Given the description of an element on the screen output the (x, y) to click on. 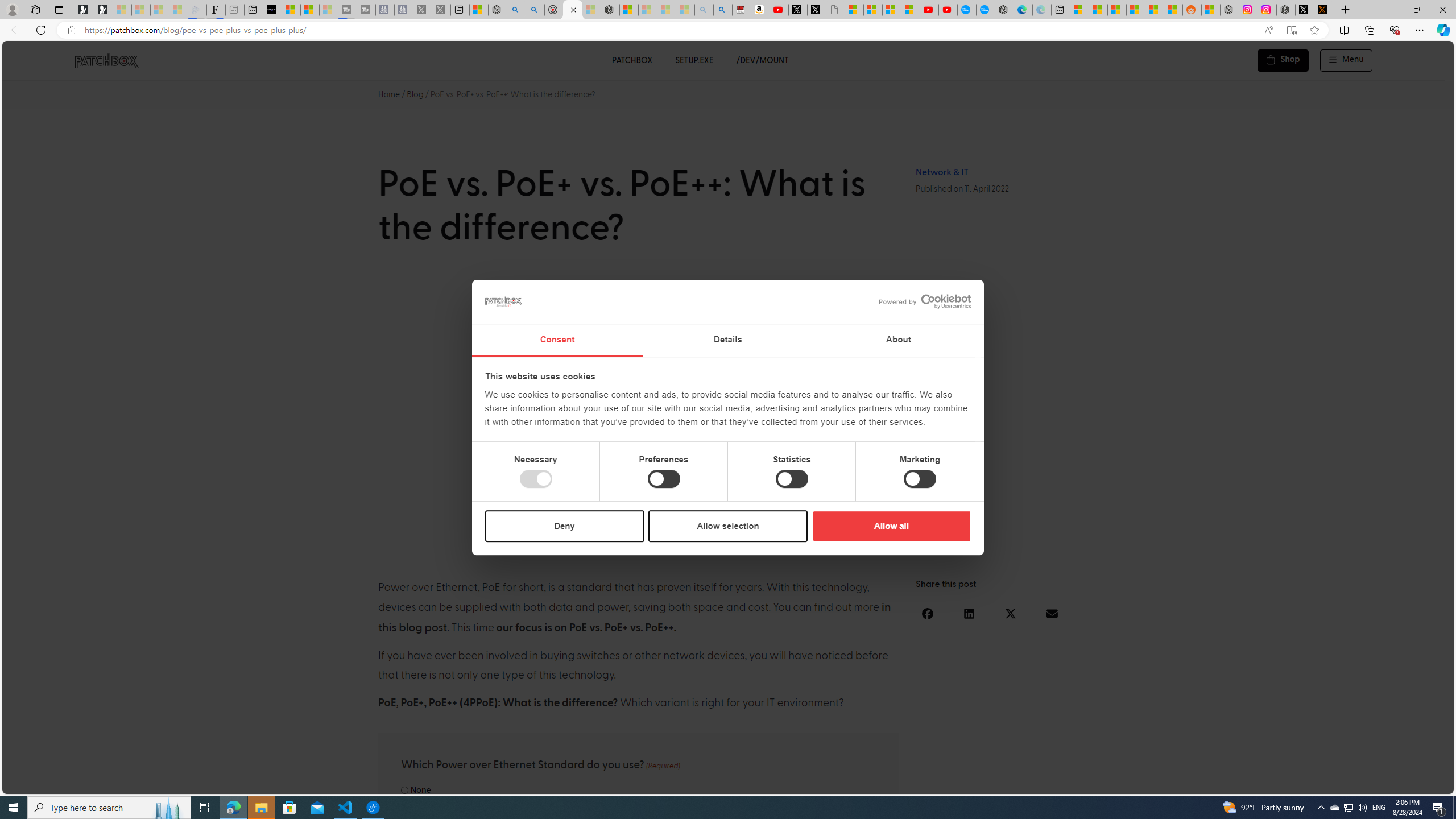
Nordace (@NordaceOfficial) / X (1304, 9)
in this blog post (634, 617)
Shanghai, China weather forecast | Microsoft Weather (1098, 9)
Allow selection (727, 525)
Language switcher : Portuguese (1401, 782)
Language switcher : Dutch (1276, 782)
Marketing (920, 479)
Shop (1282, 60)
